Given the description of an element on the screen output the (x, y) to click on. 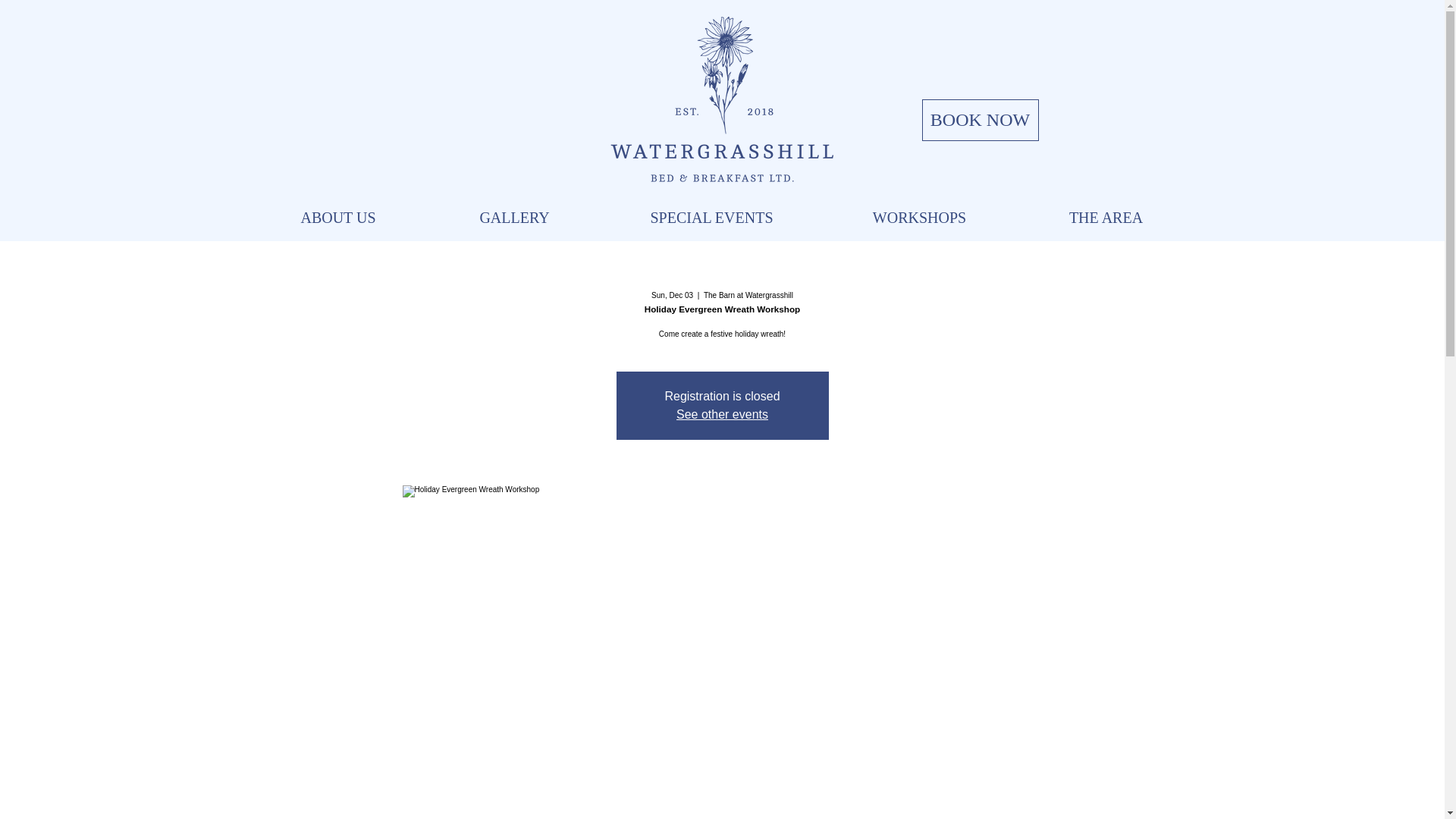
See other events (722, 413)
BOOK NOW (980, 119)
SPECIAL EVENTS (710, 217)
GALLERY (513, 217)
WORKSHOPS (919, 217)
